Given the description of an element on the screen output the (x, y) to click on. 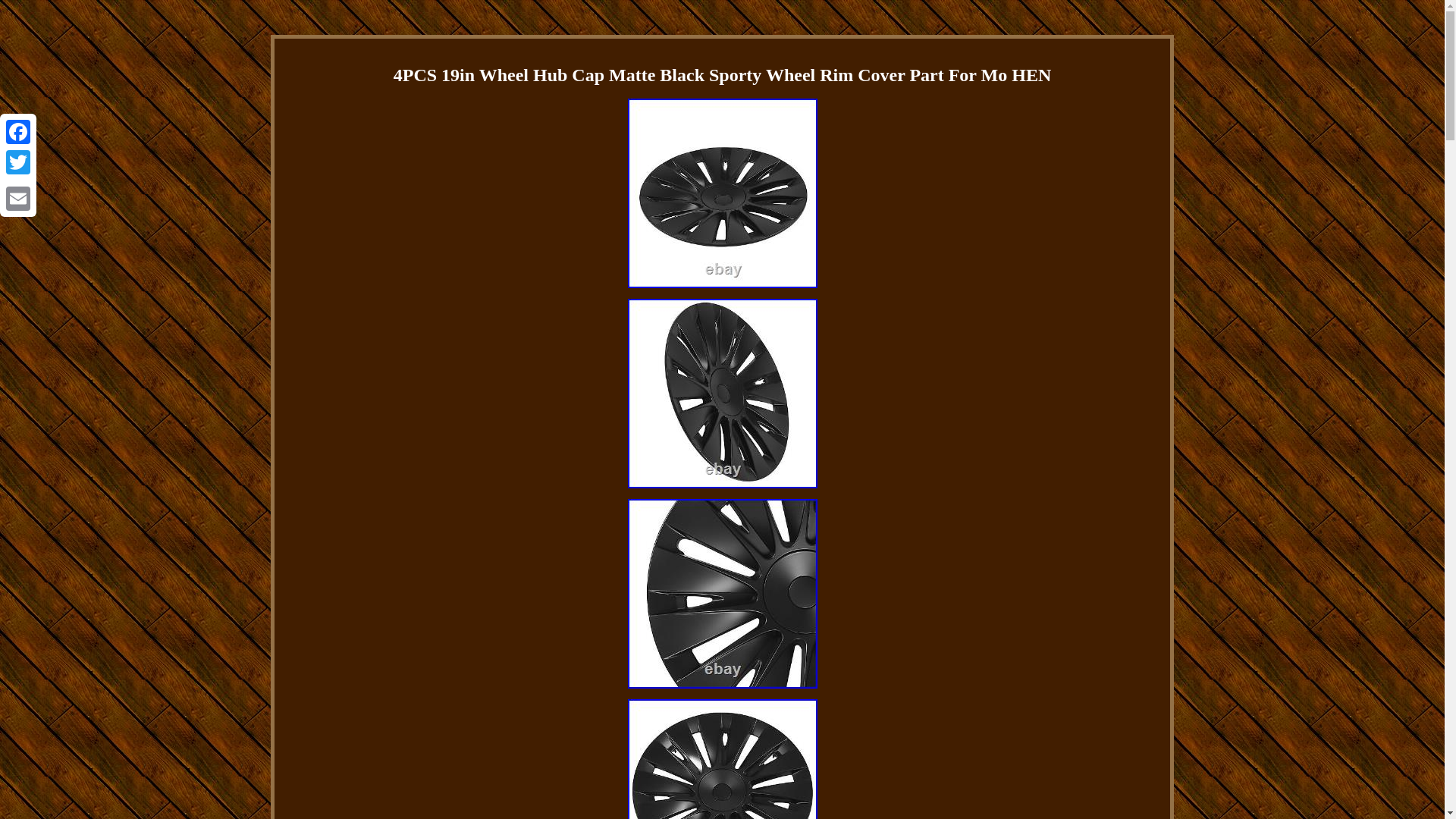
Email (17, 198)
Twitter (17, 162)
Facebook (17, 132)
